Given the description of an element on the screen output the (x, y) to click on. 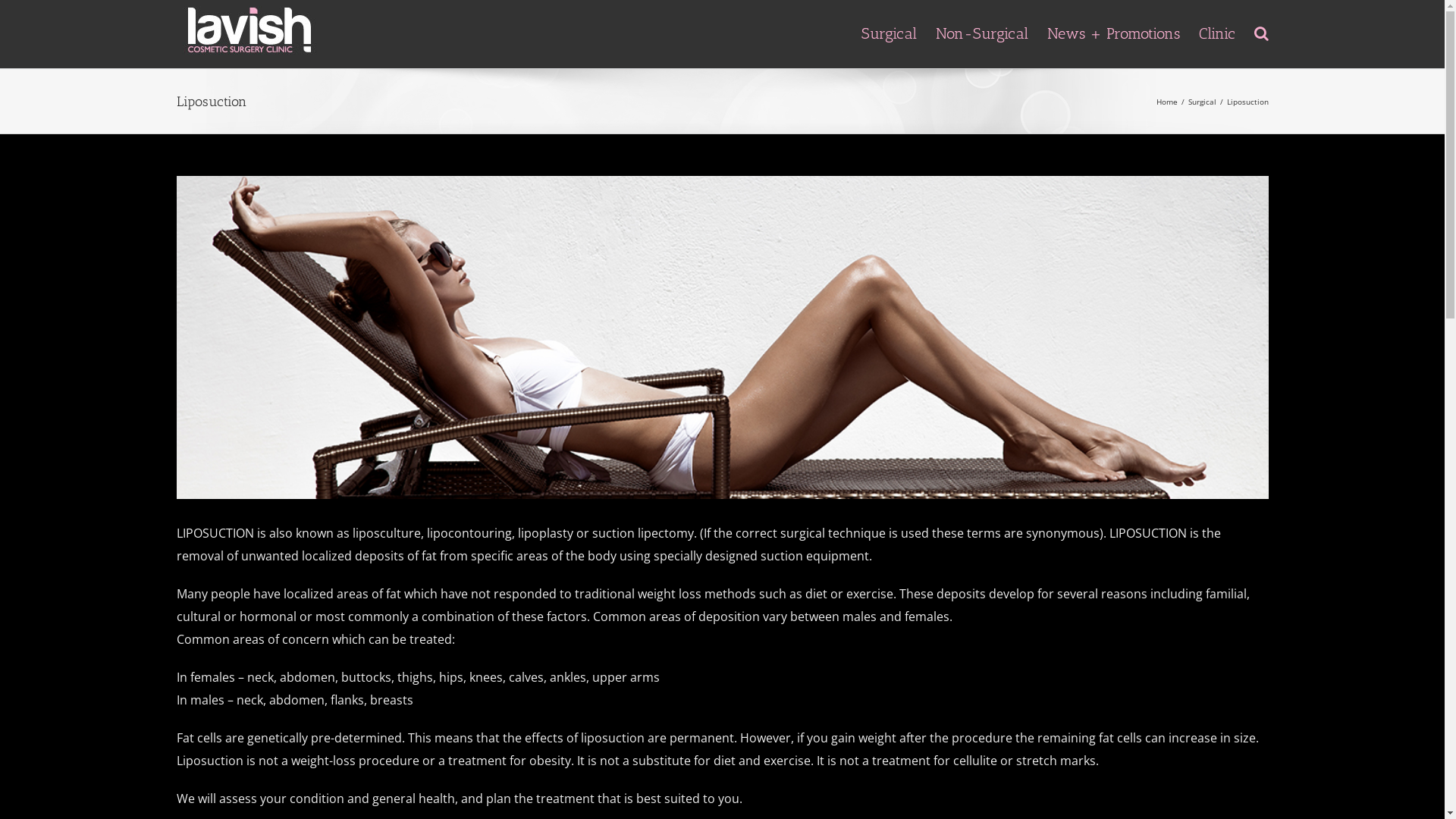
Search Element type: text (37, 11)
Home Element type: text (1165, 100)
Surgical Element type: text (888, 32)
Non-Surgical Element type: text (981, 32)
Clinic Element type: text (1216, 32)
News + Promotions Element type: text (1112, 32)
Surgical Element type: text (1201, 100)
Send Element type: text (577, 486)
